Given the description of an element on the screen output the (x, y) to click on. 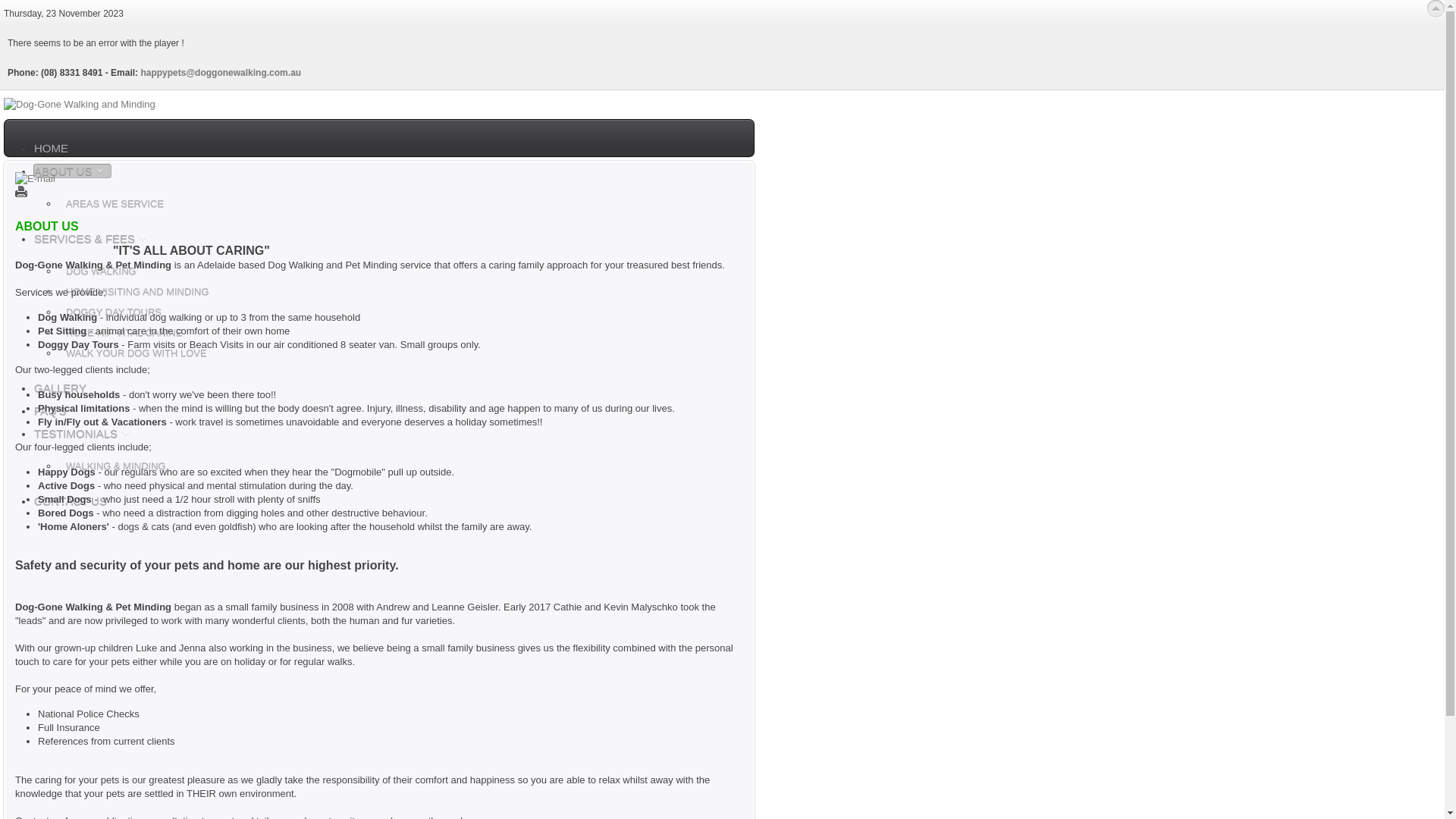
FAQ'S Element type: text (50, 410)
AREAS WE SERVICE Element type: text (114, 203)
DOGGY DAY TOURS Element type: text (113, 311)
WALKING & MINDING Element type: text (115, 465)
Print Element type: hover (21, 194)
DOG WALKING Element type: text (101, 270)
ABOUT US Element type: text (72, 170)
GALLERY Element type: text (60, 387)
HOME Element type: text (51, 148)
HOME VISITING AND MINDING Element type: text (137, 291)
Dog-Gone Walking and Minding Element type: hover (79, 104)
TESTIMONIALS Element type: text (85, 433)
CONTACT US Element type: text (70, 500)
E-mail Element type: hover (35, 178)
SERVICES & FEES Element type: text (93, 238)
ROSE-HIP VITAL CANINE Element type: text (124, 332)
WALK YOUR DOG WITH LOVE Element type: text (136, 352)
happypets@doggonewalking.com.au Element type: text (220, 72)
